Given the description of an element on the screen output the (x, y) to click on. 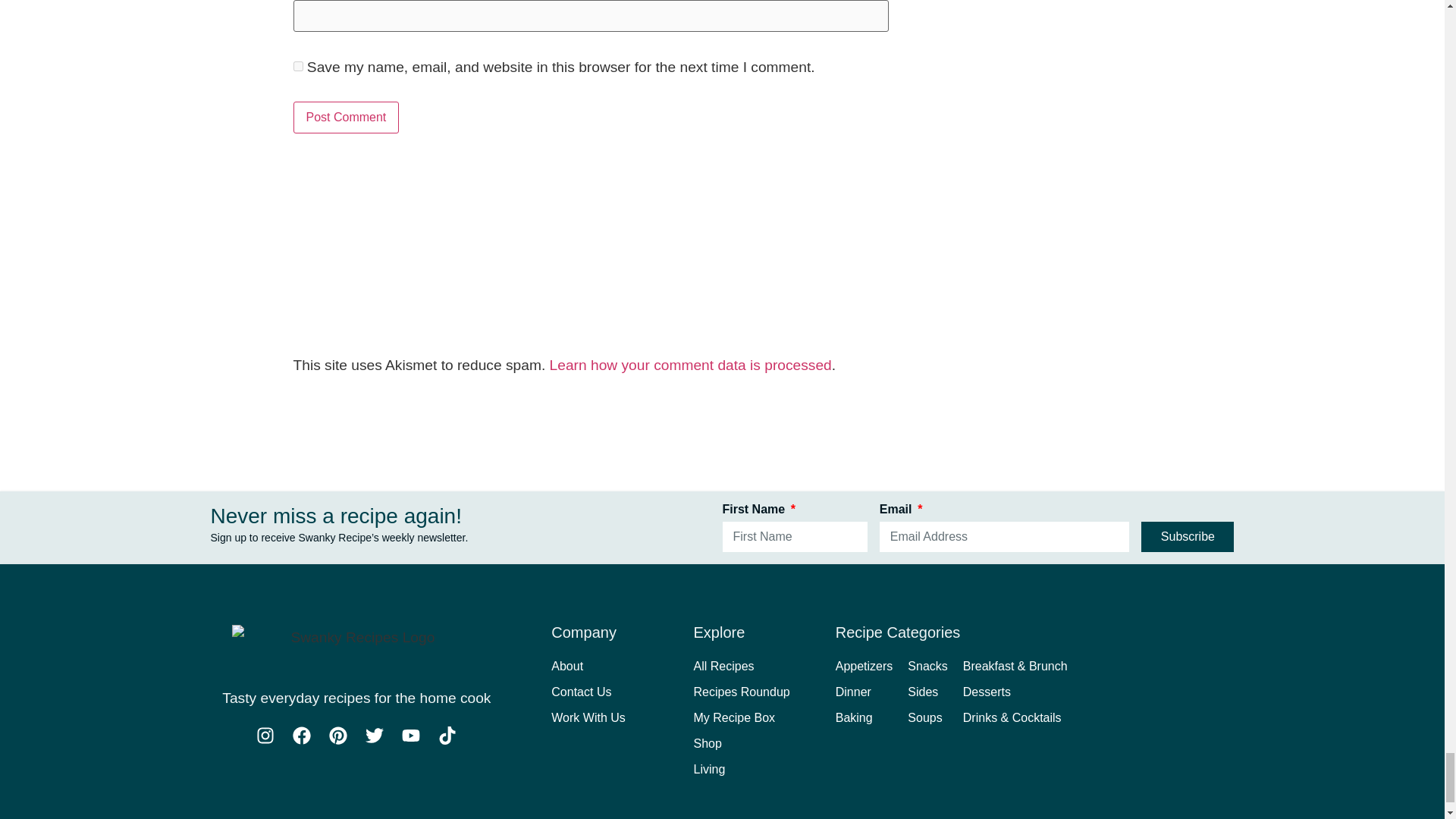
yes (297, 66)
Post Comment (345, 117)
